Given the description of an element on the screen output the (x, y) to click on. 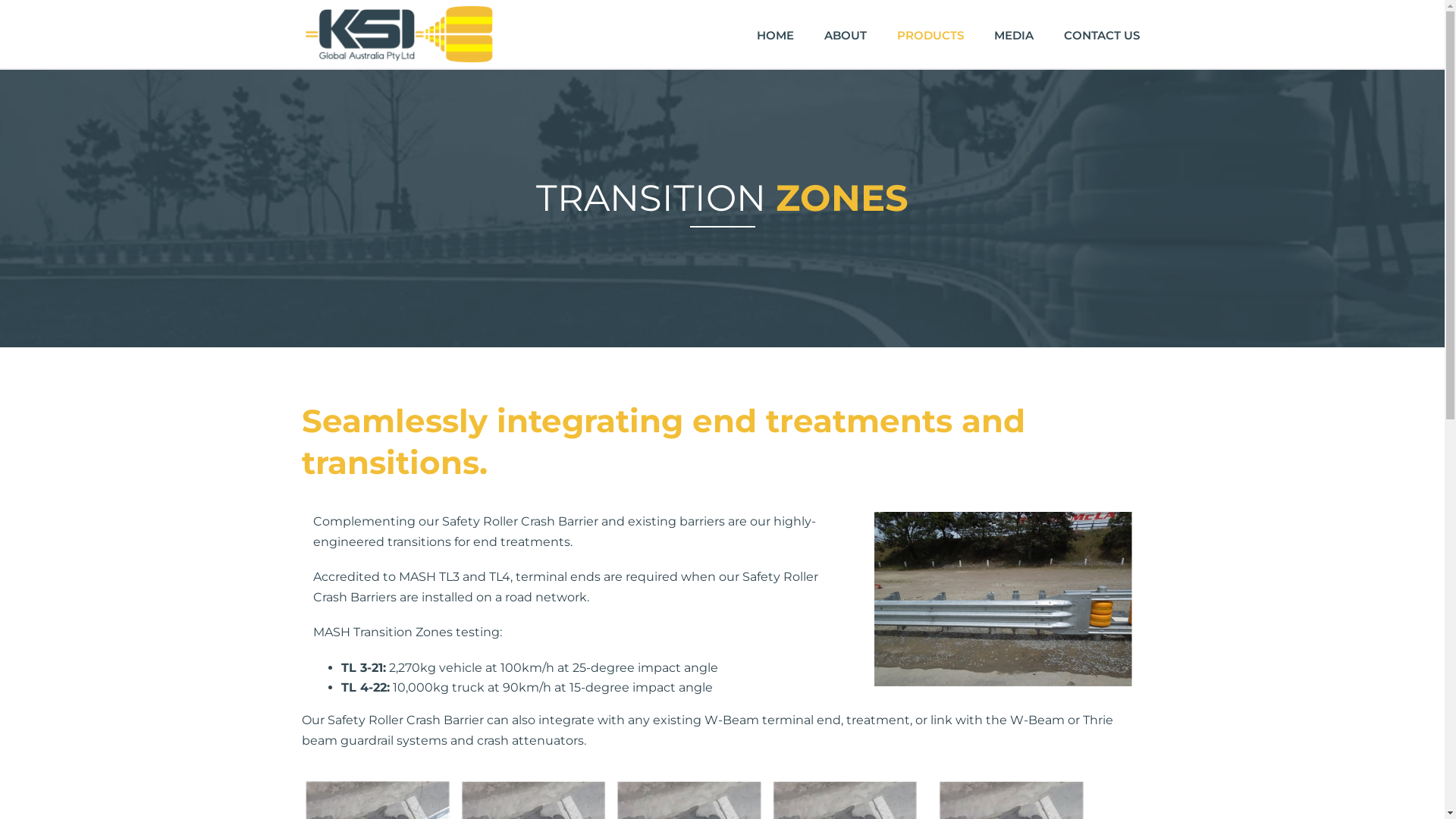
MEDIA Element type: text (1013, 34)
ABOUT Element type: text (844, 34)
transition-img1.1 Element type: hover (1002, 598)
HOME Element type: text (775, 34)
PRODUCTS Element type: text (929, 34)
Innovative global road safety solutions. Element type: hover (398, 34)
CONTACT US Element type: text (1101, 34)
